Given the description of an element on the screen output the (x, y) to click on. 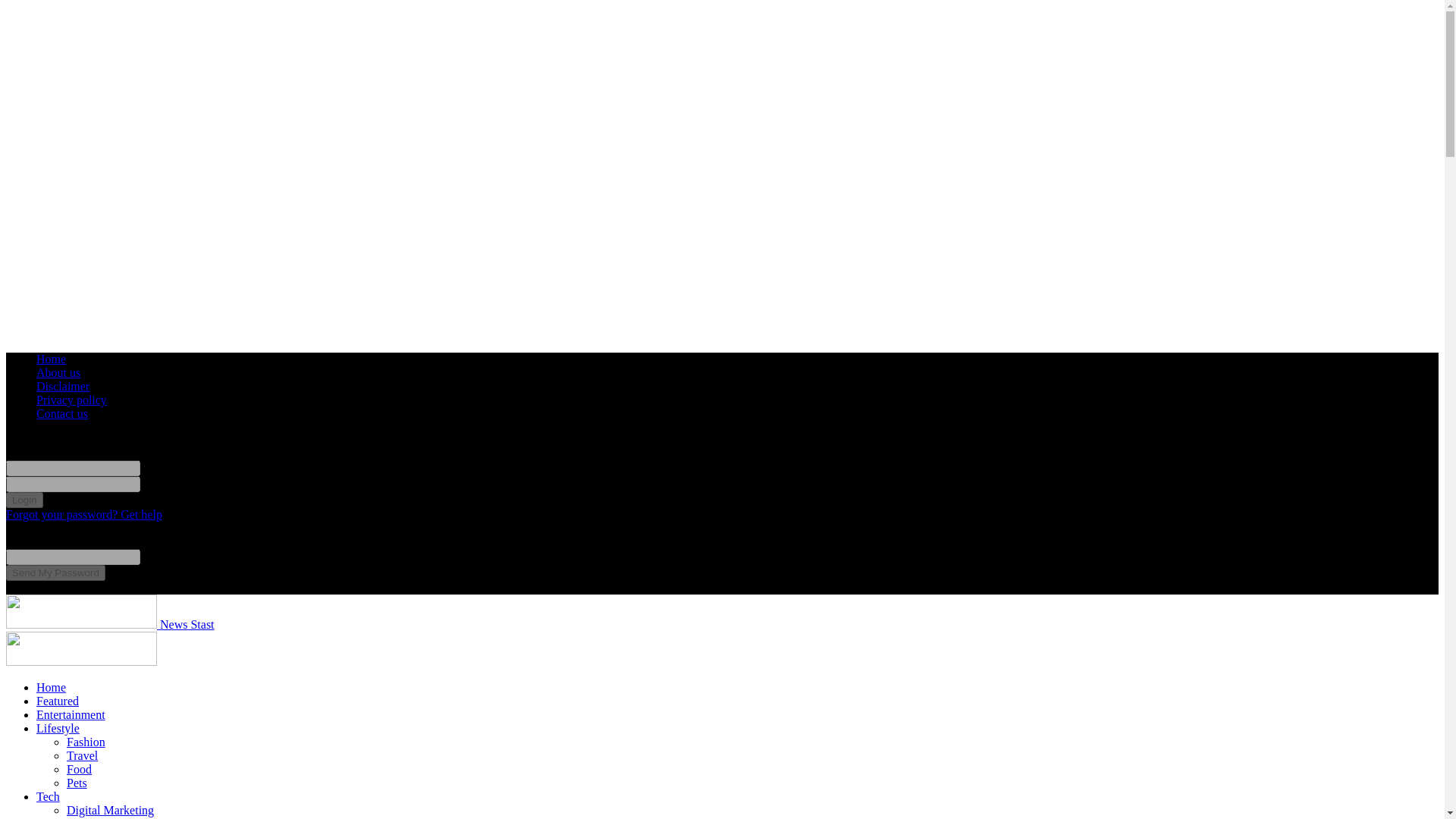
Forgot your password? Get help (83, 513)
Home (50, 358)
Contact us (61, 413)
Privacy policy (71, 399)
Login (24, 499)
Disclaimer (62, 386)
News Stast (109, 624)
Send My Password (54, 572)
About us (58, 372)
